Given the description of an element on the screen output the (x, y) to click on. 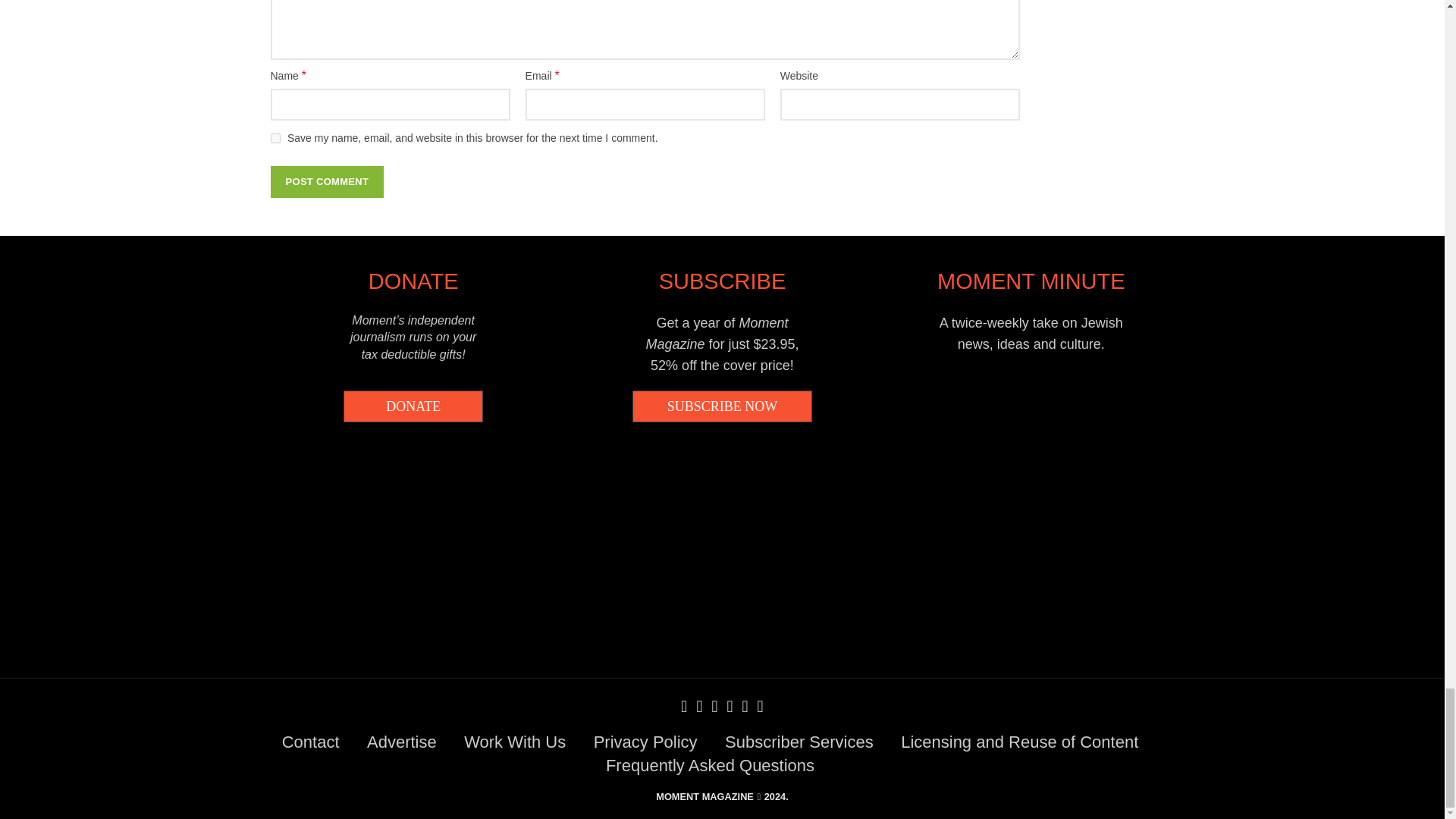
Post Comment (326, 182)
yes (274, 138)
